Given the description of an element on the screen output the (x, y) to click on. 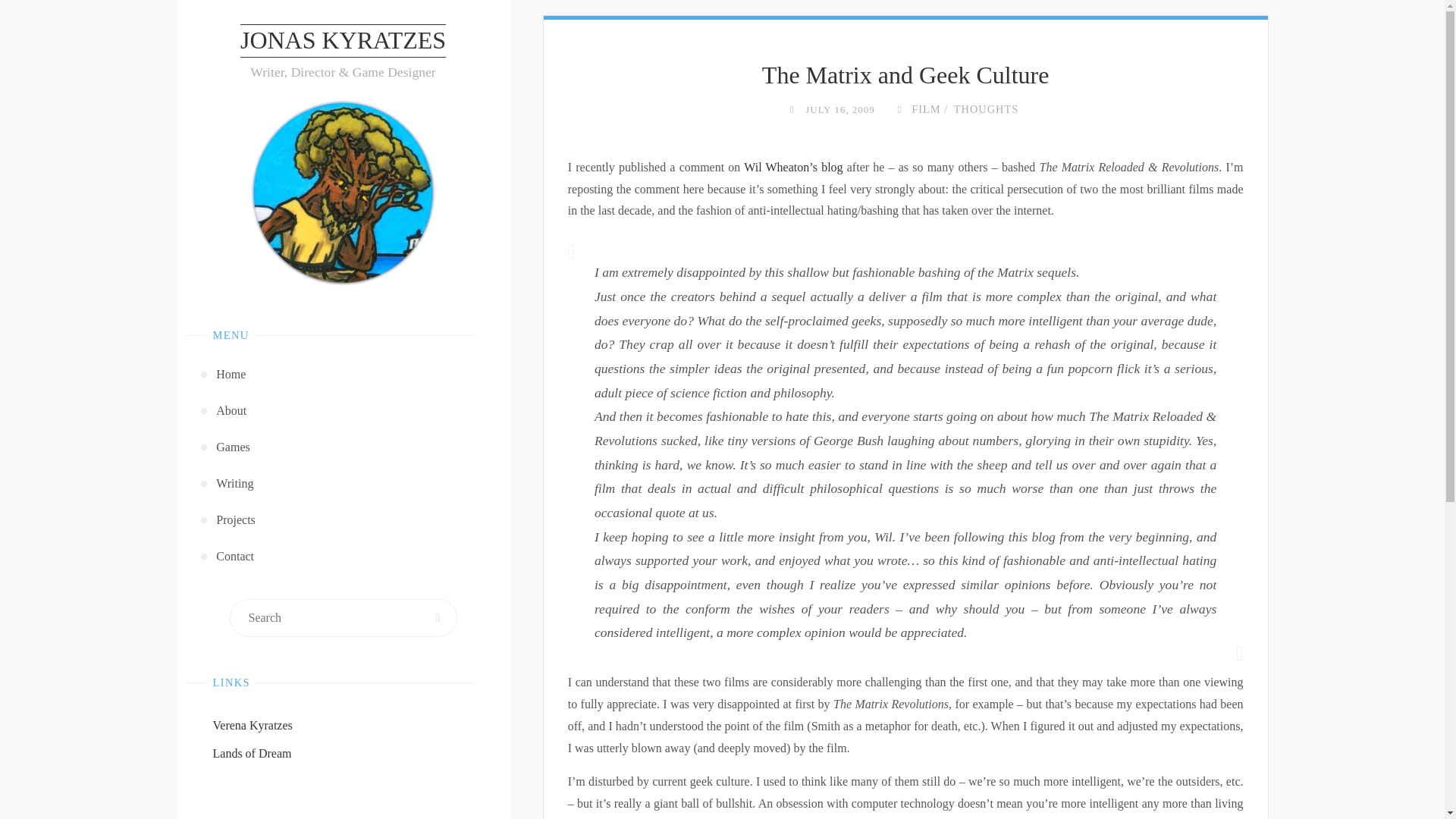
Games (344, 447)
THOUGHTS (984, 109)
About (344, 411)
Home (344, 374)
Contact (344, 556)
JONAS KYRATZES (342, 40)
Categories (898, 109)
Projects (344, 520)
Writing (344, 484)
Verena Kyratzes (252, 725)
Date (791, 109)
FILM (924, 109)
Lands of Dream (251, 753)
